Given the description of an element on the screen output the (x, y) to click on. 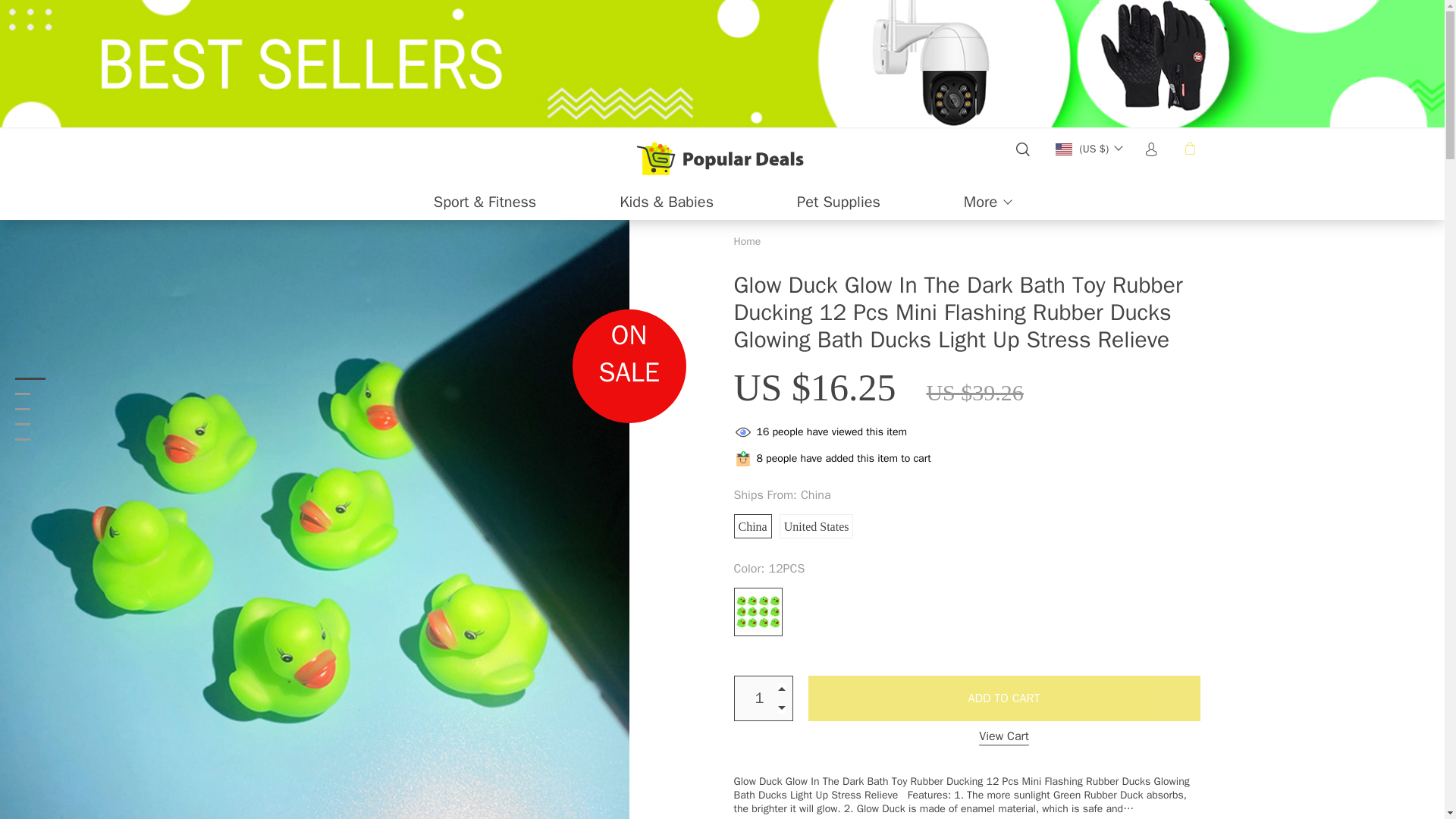
ADD TO CART (1003, 698)
12PCS (966, 566)
Pet Supplies (757, 611)
Home (838, 202)
1 (747, 241)
